Given the description of an element on the screen output the (x, y) to click on. 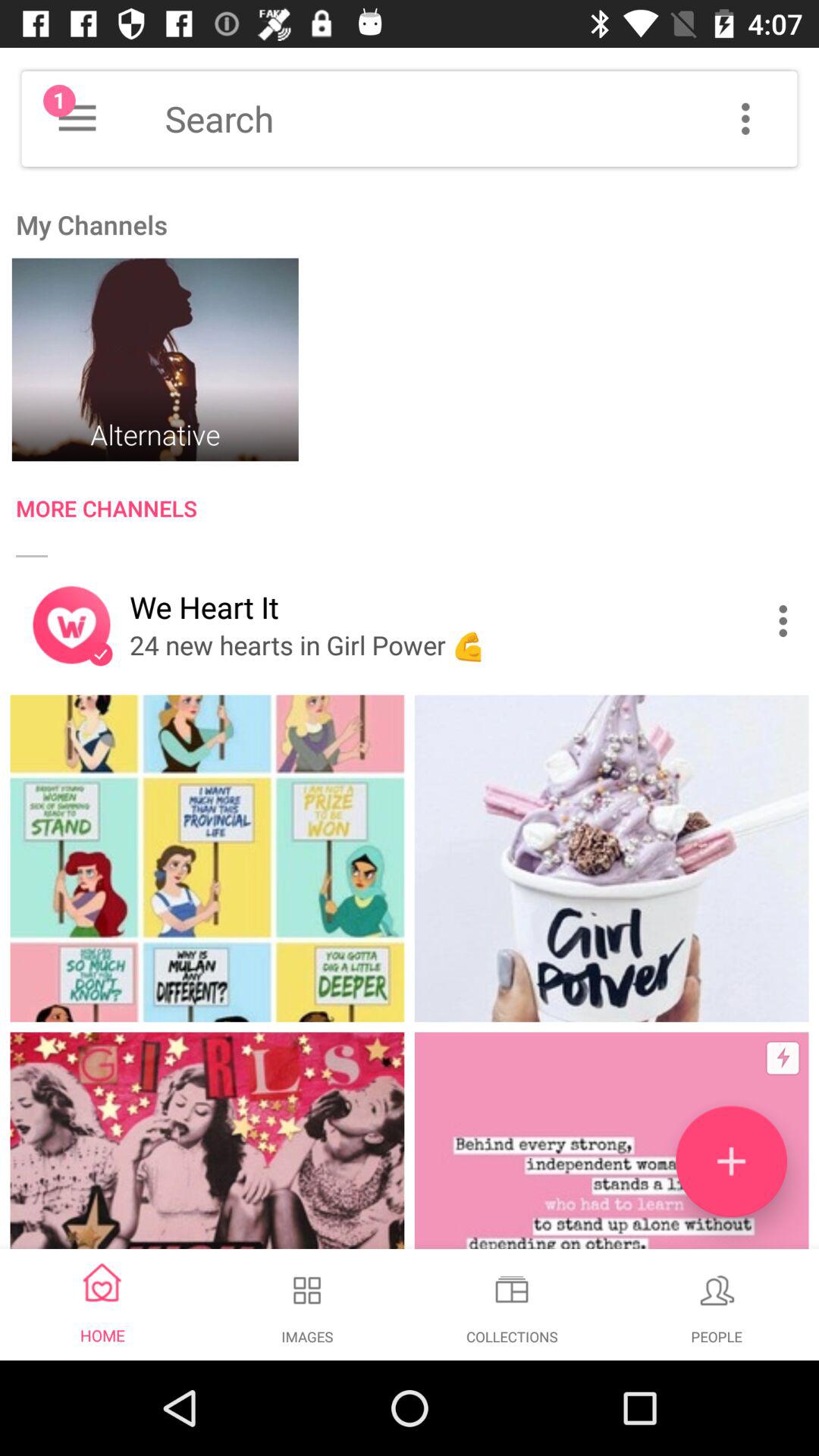
show more options (745, 118)
